Given the description of an element on the screen output the (x, y) to click on. 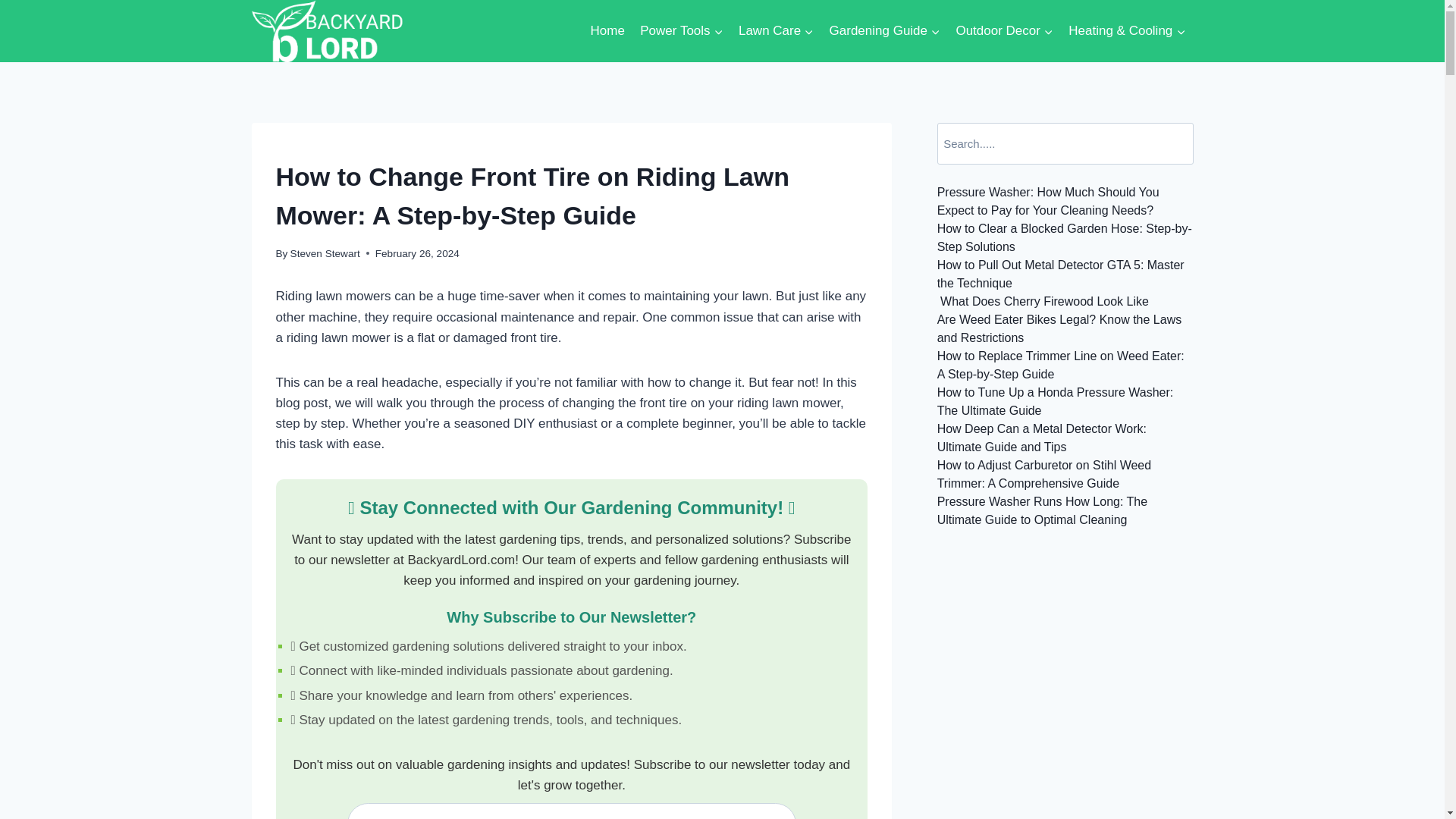
Home (606, 30)
Gardening Guide (884, 30)
Outdoor Decor (1004, 30)
Lawn Care (776, 30)
Power Tools (680, 30)
Steven Stewart (324, 253)
